Given the description of an element on the screen output the (x, y) to click on. 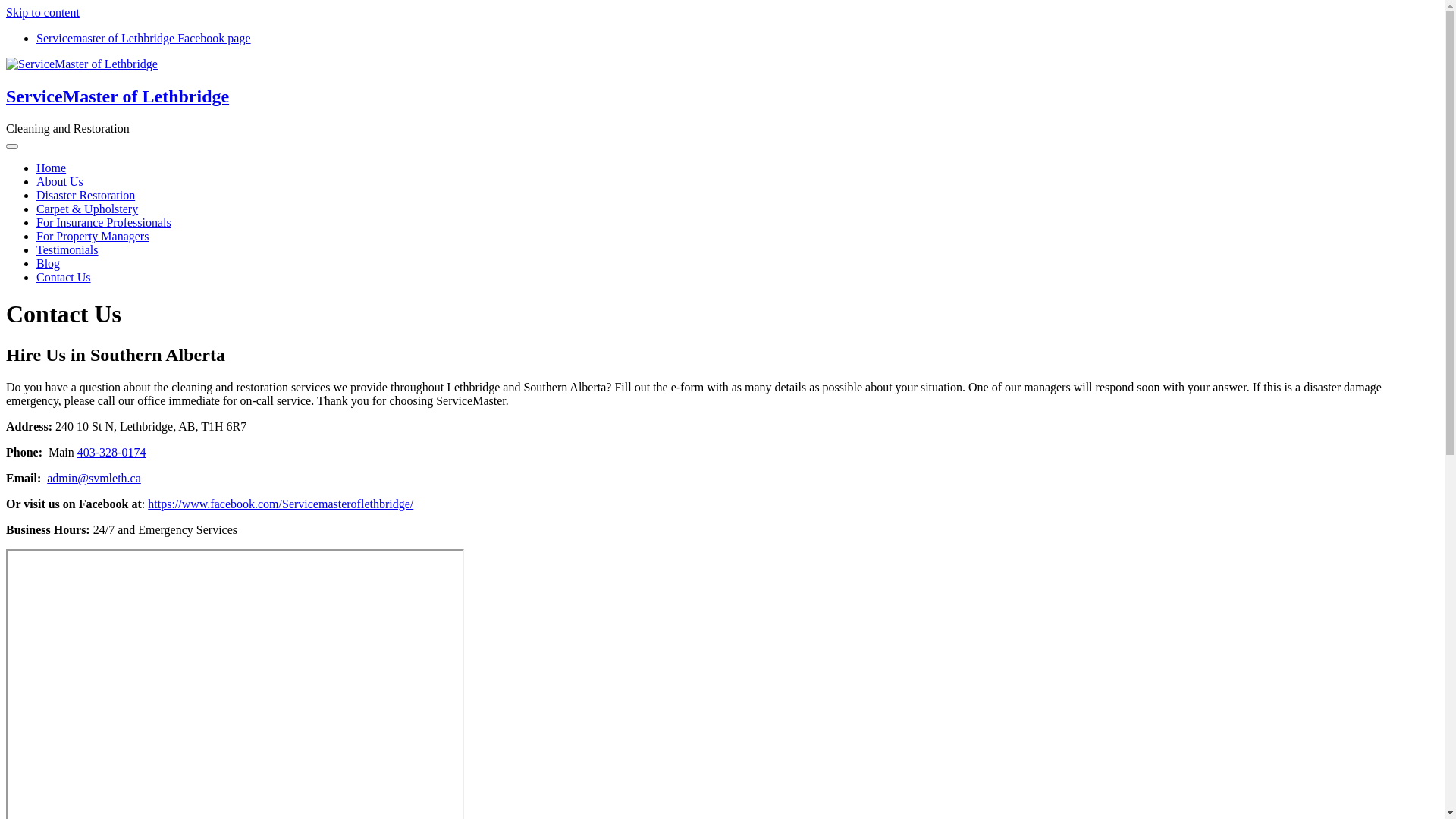
ServiceMaster of Lethbridge Element type: text (117, 96)
admin@svmleth.ca Element type: text (94, 477)
For Insurance Professionals Element type: text (103, 222)
About Us Element type: text (59, 181)
https://www.facebook.com/Servicemasteroflethbridge/ Element type: text (280, 503)
Blog Element type: text (47, 263)
Contact Us Element type: text (63, 276)
Disaster Restoration Element type: text (85, 194)
Home Element type: text (50, 167)
Skip to content Element type: text (42, 12)
Servicemaster of Lethbridge Facebook page Element type: text (143, 37)
Carpet & Upholstery Element type: text (87, 208)
Testimonials Element type: text (67, 249)
For Property Managers Element type: text (92, 235)
